Given the description of an element on the screen output the (x, y) to click on. 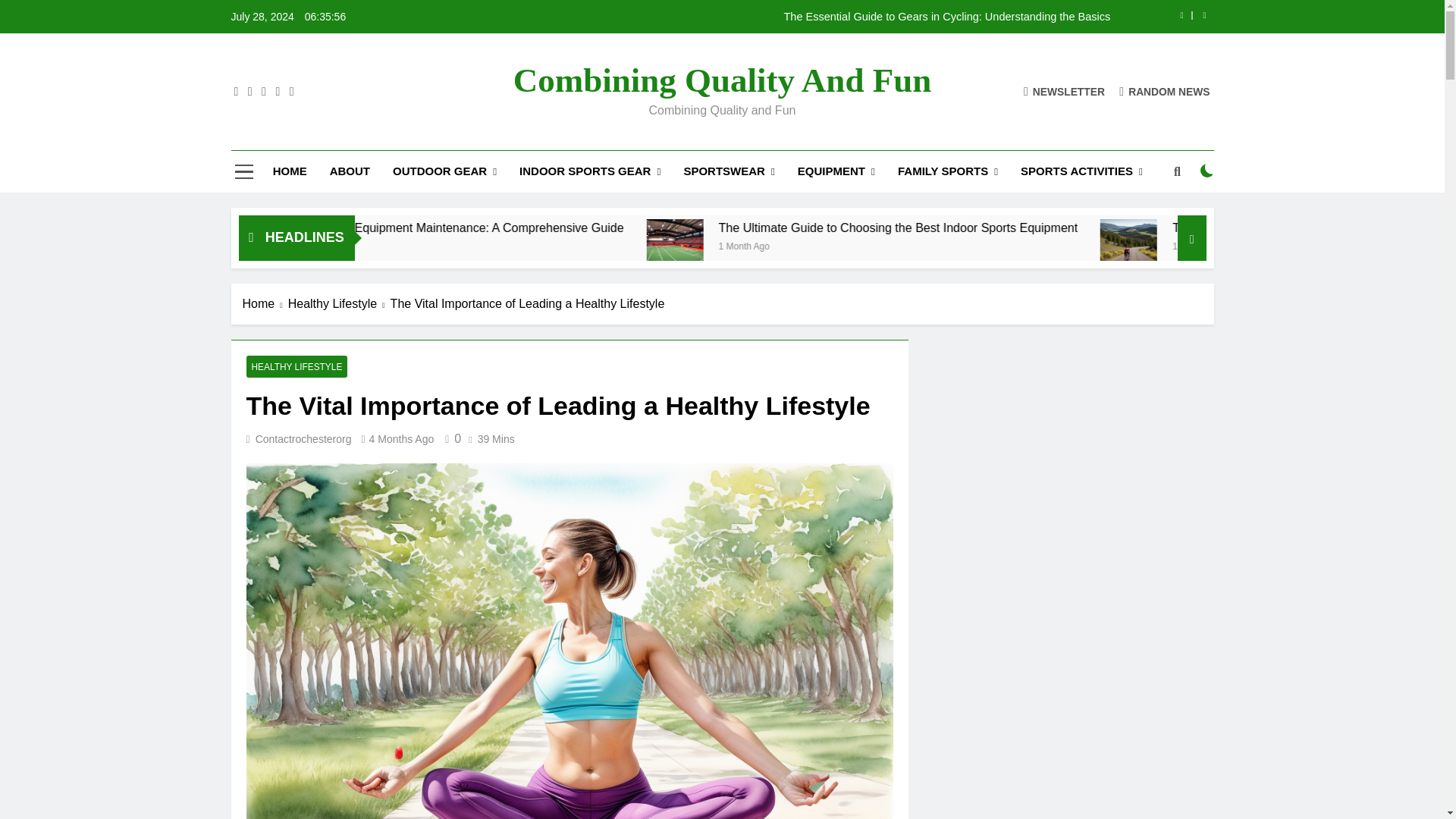
RANDOM NEWS (1164, 91)
Combining Quality And Fun (722, 80)
EQUIPMENT (836, 171)
OUTDOOR GEAR (444, 171)
ABOUT (349, 170)
on (1206, 170)
INDOOR SPORTS GEAR (589, 171)
HOME (290, 170)
NEWSLETTER (1064, 91)
SPORTSWEAR (728, 171)
